Given the description of an element on the screen output the (x, y) to click on. 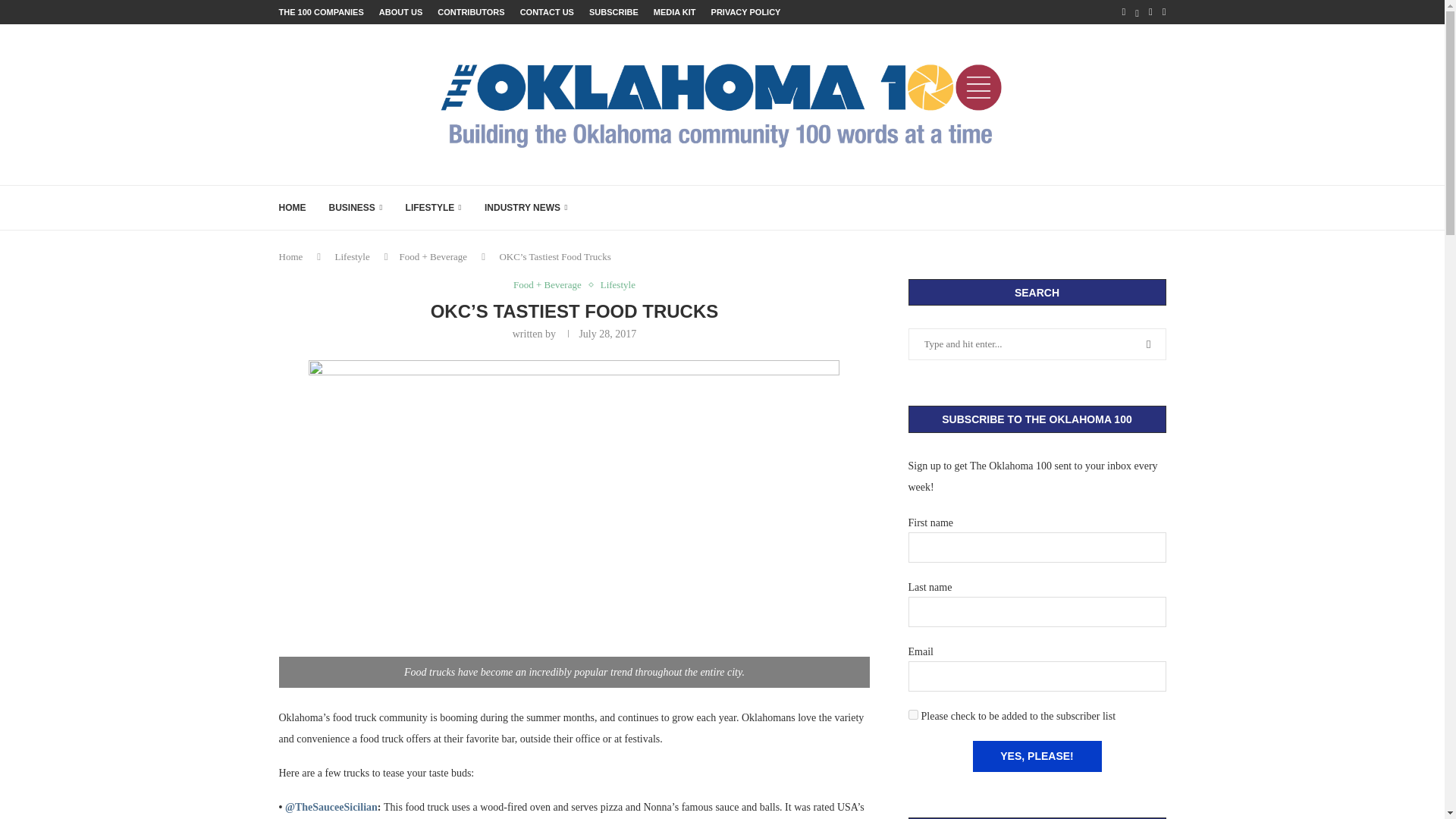
MEDIA KIT (674, 12)
PRIVACY POLICY (745, 12)
YES, PLEASE! (1036, 756)
SUBSCRIBE (614, 12)
ABOUT US (400, 12)
THE 100 COMPANIES (321, 12)
CONTRIBUTORS (470, 12)
CONTACT US (546, 12)
BUSINESS (355, 207)
1 (913, 714)
